Given the description of an element on the screen output the (x, y) to click on. 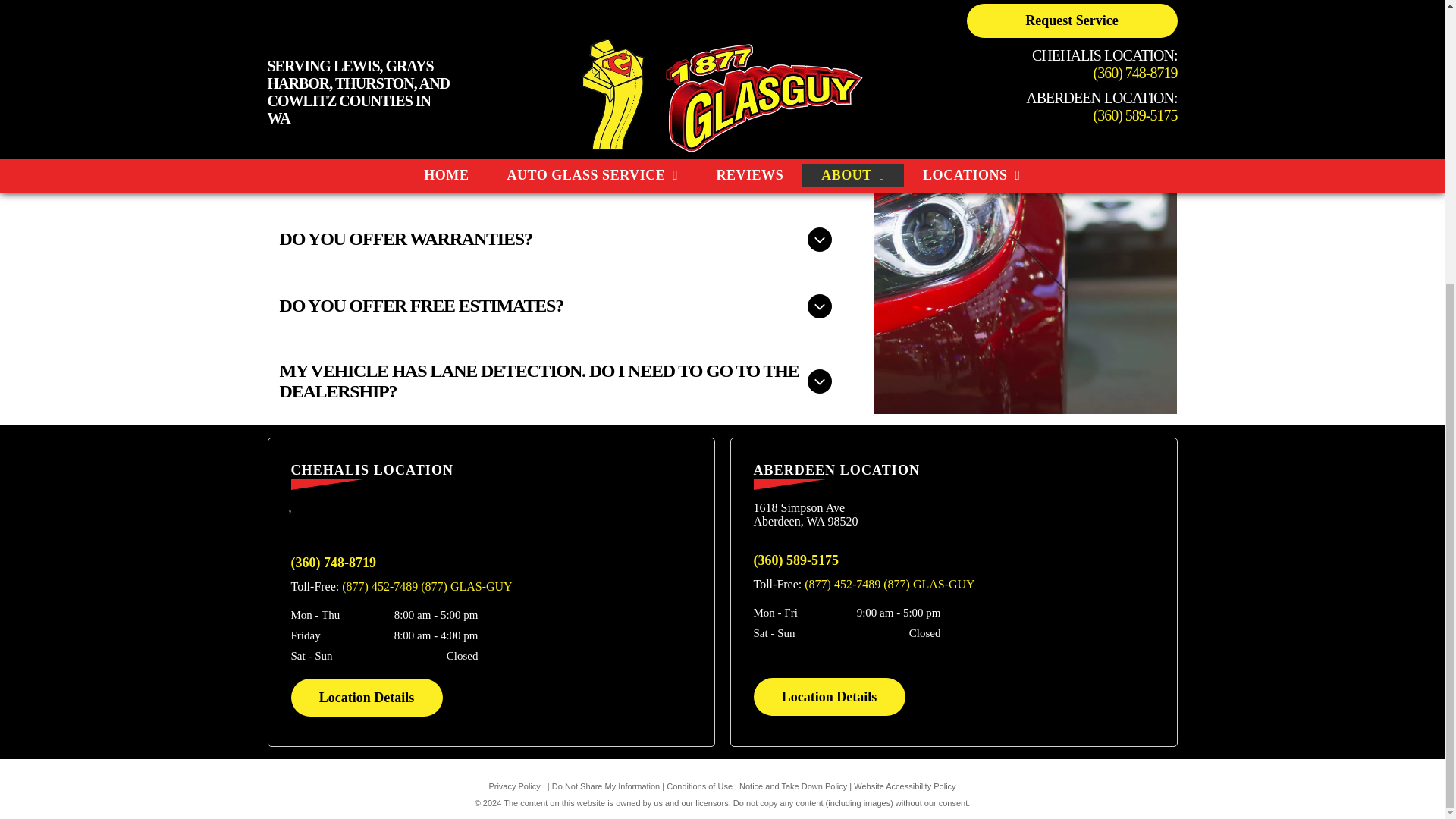
Conditions of Use (699, 786)
Location Details (366, 697)
Location Details (829, 696)
Website Accessibility Policy (904, 786)
Privacy Policy (513, 786)
Do Not Share My Information (605, 786)
Notice and Take Down Policy (793, 786)
